Given the description of an element on the screen output the (x, y) to click on. 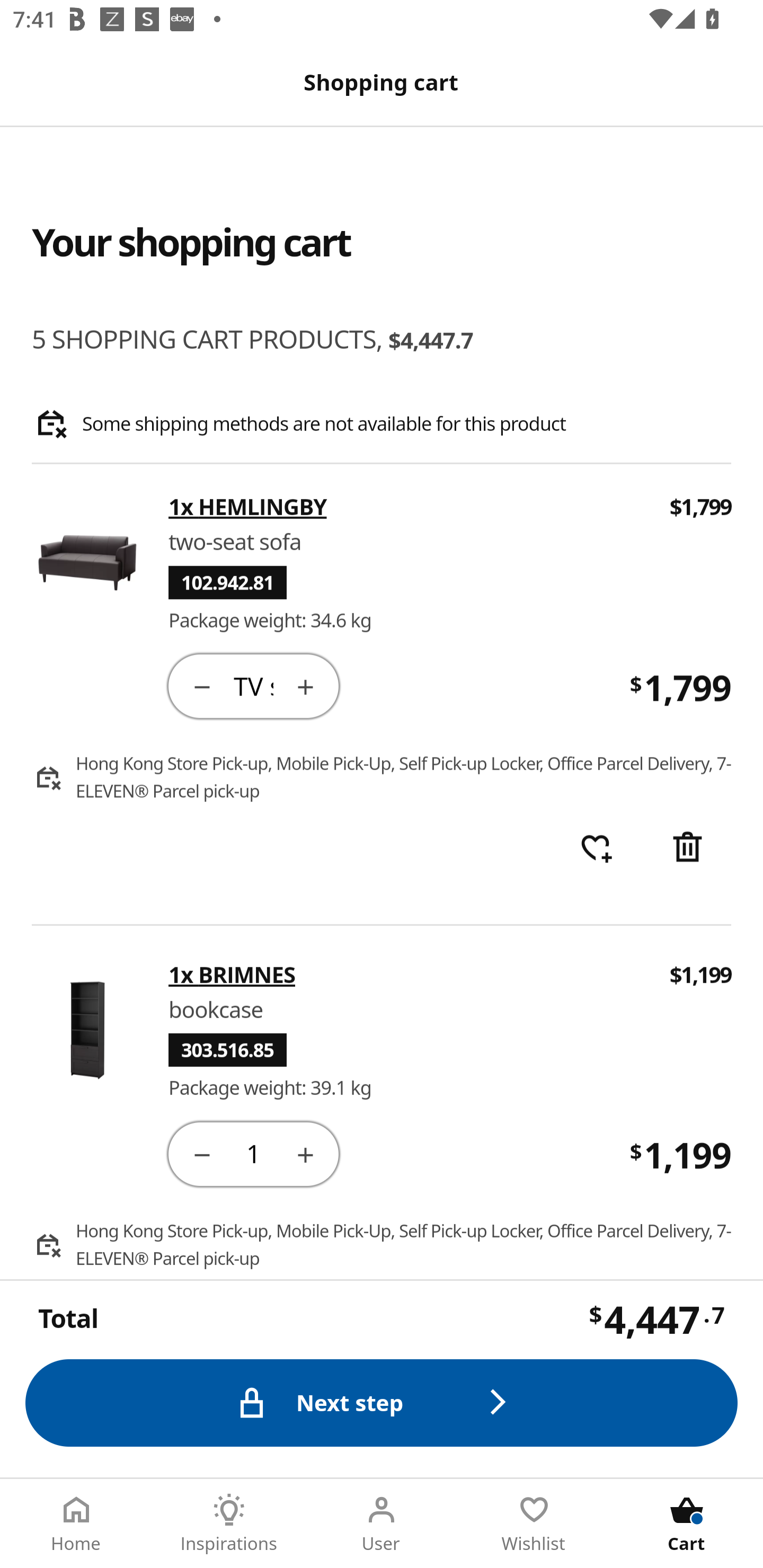
1x  HEMLINGBY 1x  HEMLINGBY (406, 507)
TV stand (253, 685)
 (201, 685)
 (305, 685)
  (595, 848)
 (686, 848)
1x  BRIMNES 1x  BRIMNES (406, 974)
1 (253, 1153)
 (201, 1153)
 (305, 1153)
Home
Tab 1 of 5 (76, 1522)
Inspirations
Tab 2 of 5 (228, 1522)
User
Tab 3 of 5 (381, 1522)
Wishlist
Tab 4 of 5 (533, 1522)
Cart
Tab 5 of 5 (686, 1522)
